Given the description of an element on the screen output the (x, y) to click on. 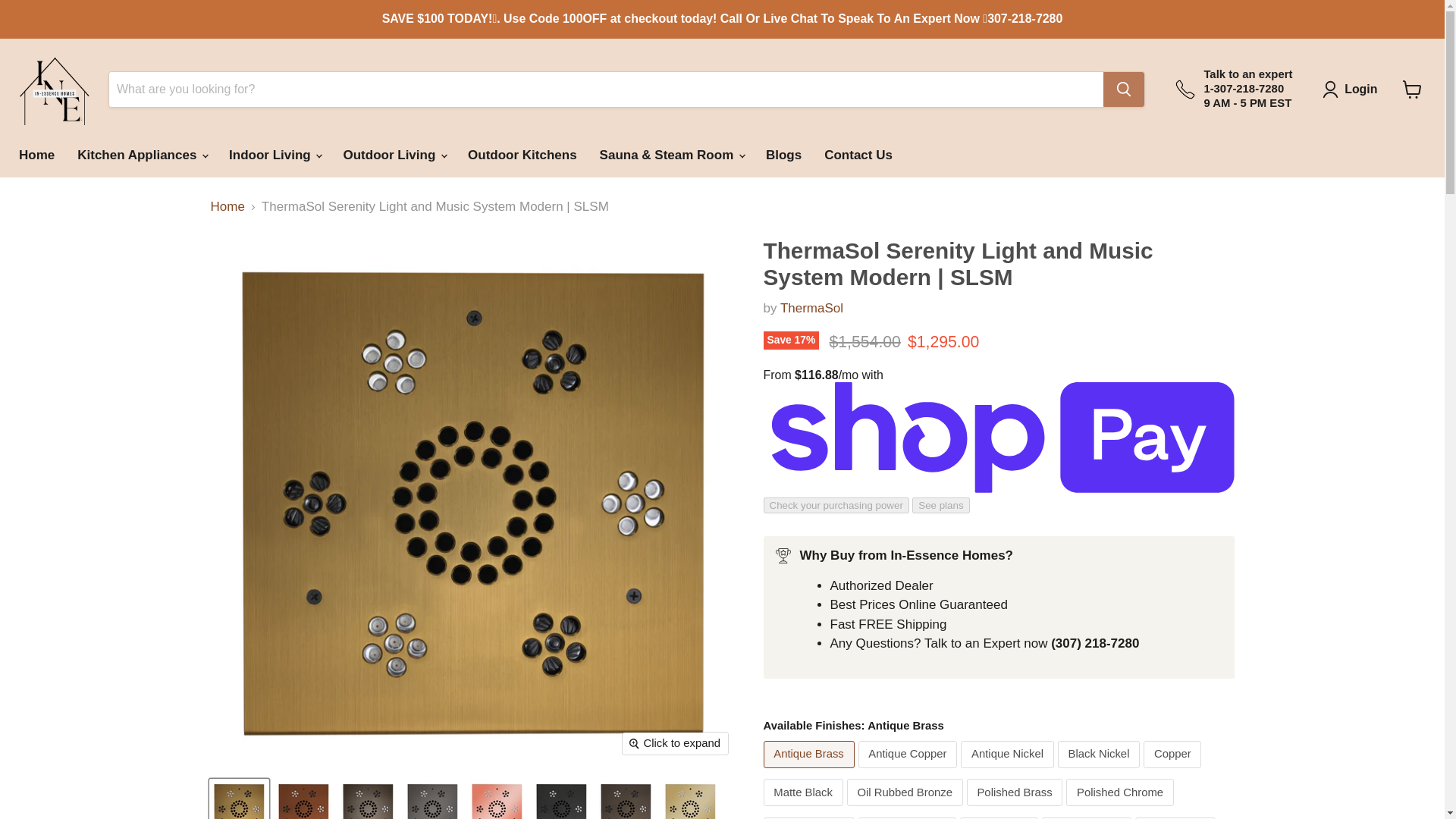
Login (1353, 89)
ThermaSol (811, 308)
View cart (1411, 89)
Home (36, 154)
